Given the description of an element on the screen output the (x, y) to click on. 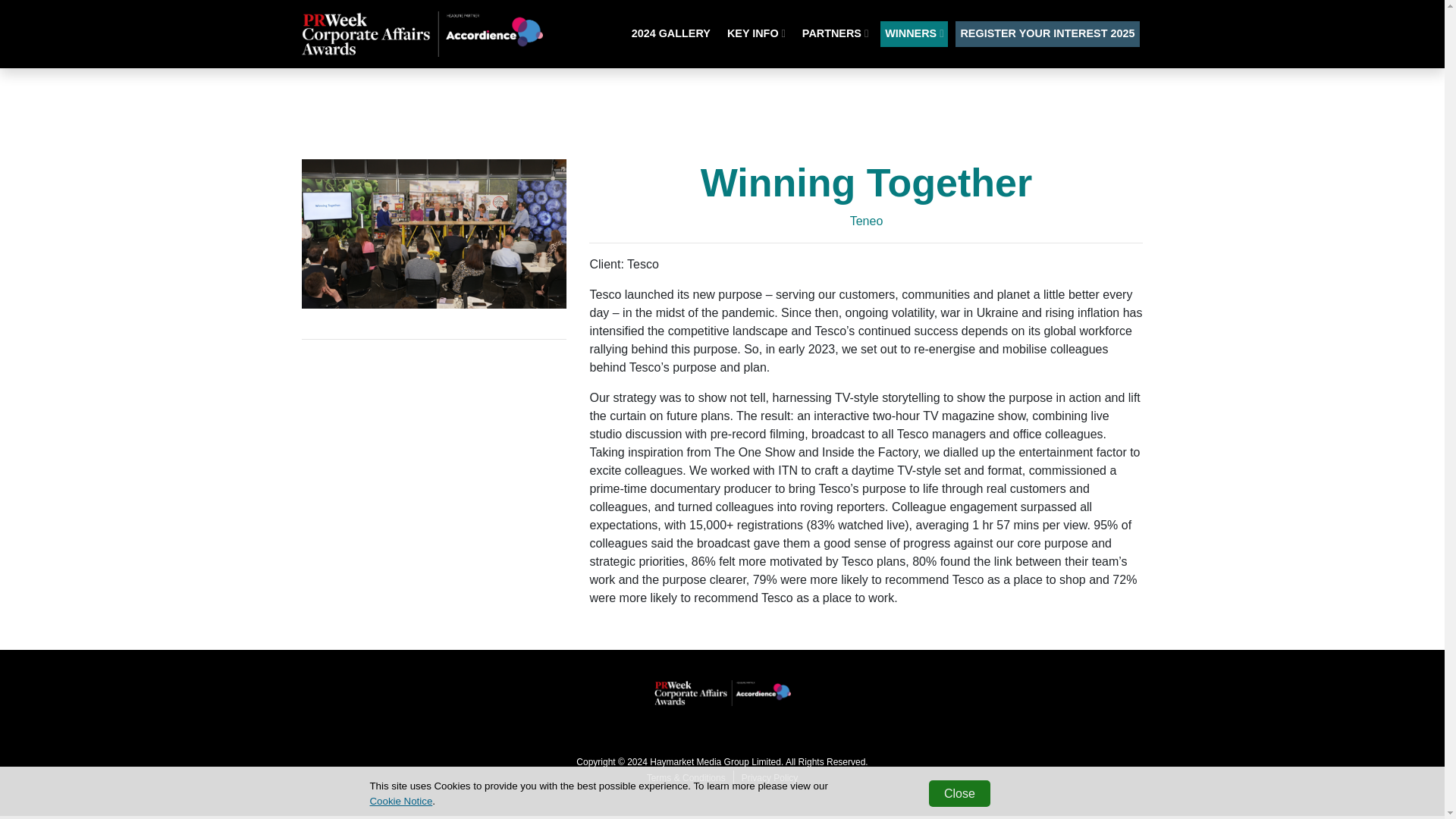
Privacy Policy (769, 777)
WINNERS (913, 33)
KEY INFO (756, 33)
KEY INFO (756, 33)
Close (959, 793)
PARTNERS (834, 33)
Cookie Notice (400, 800)
2024 GALLERY (670, 33)
REGISTER YOUR INTEREST 2025 (1046, 33)
PARTNERS (834, 33)
WINNERS (913, 33)
REGISTER YOUR INTEREST 2025 (1046, 33)
2024 GALLERY (670, 33)
